Given the description of an element on the screen output the (x, y) to click on. 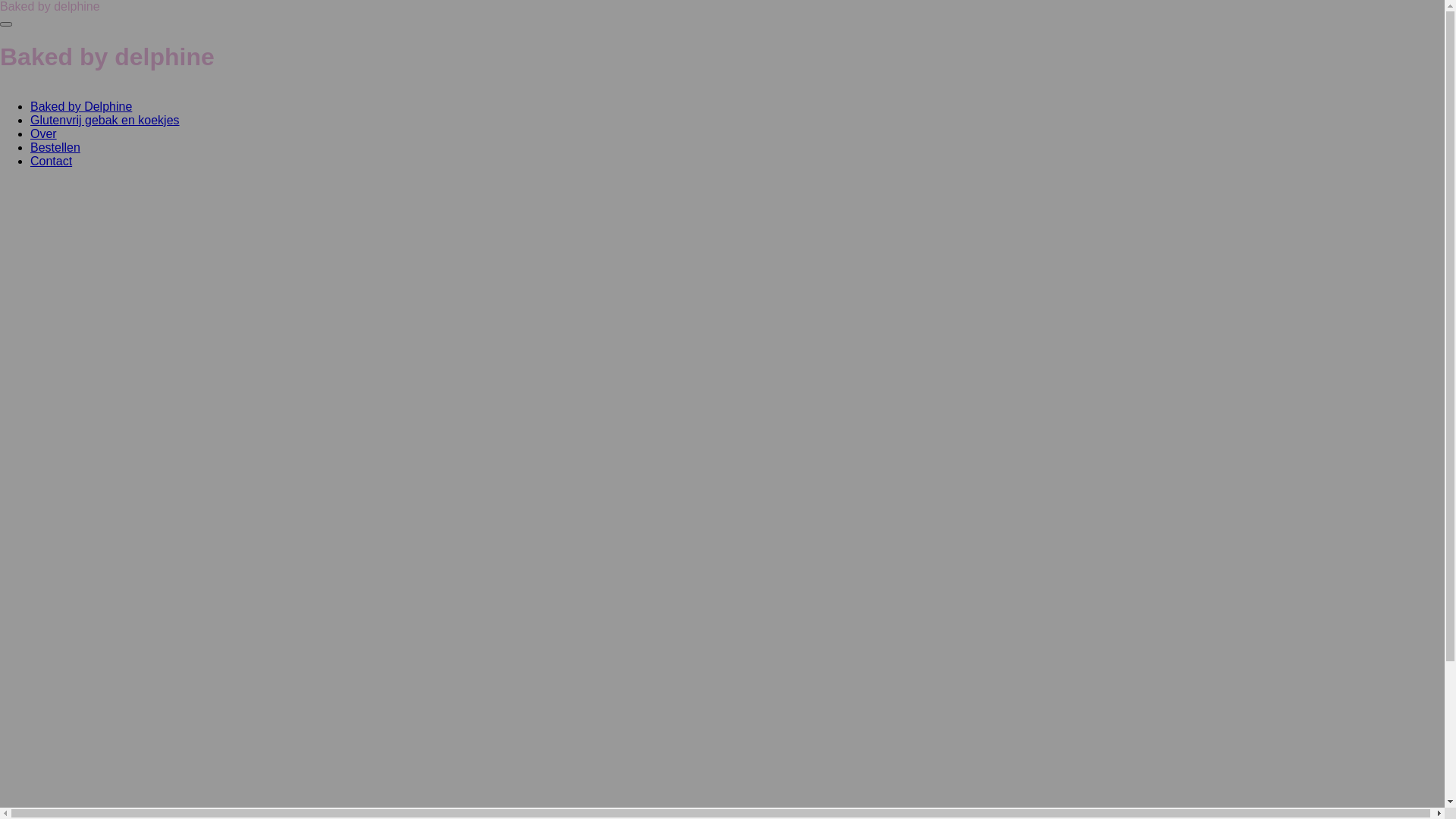
Glutenvrij gebak en koekjes Element type: text (104, 119)
Bestellen Element type: text (55, 147)
Baked by Delphine Element type: text (80, 106)
Over Element type: text (43, 133)
Contact Element type: text (51, 160)
